Given the description of an element on the screen output the (x, y) to click on. 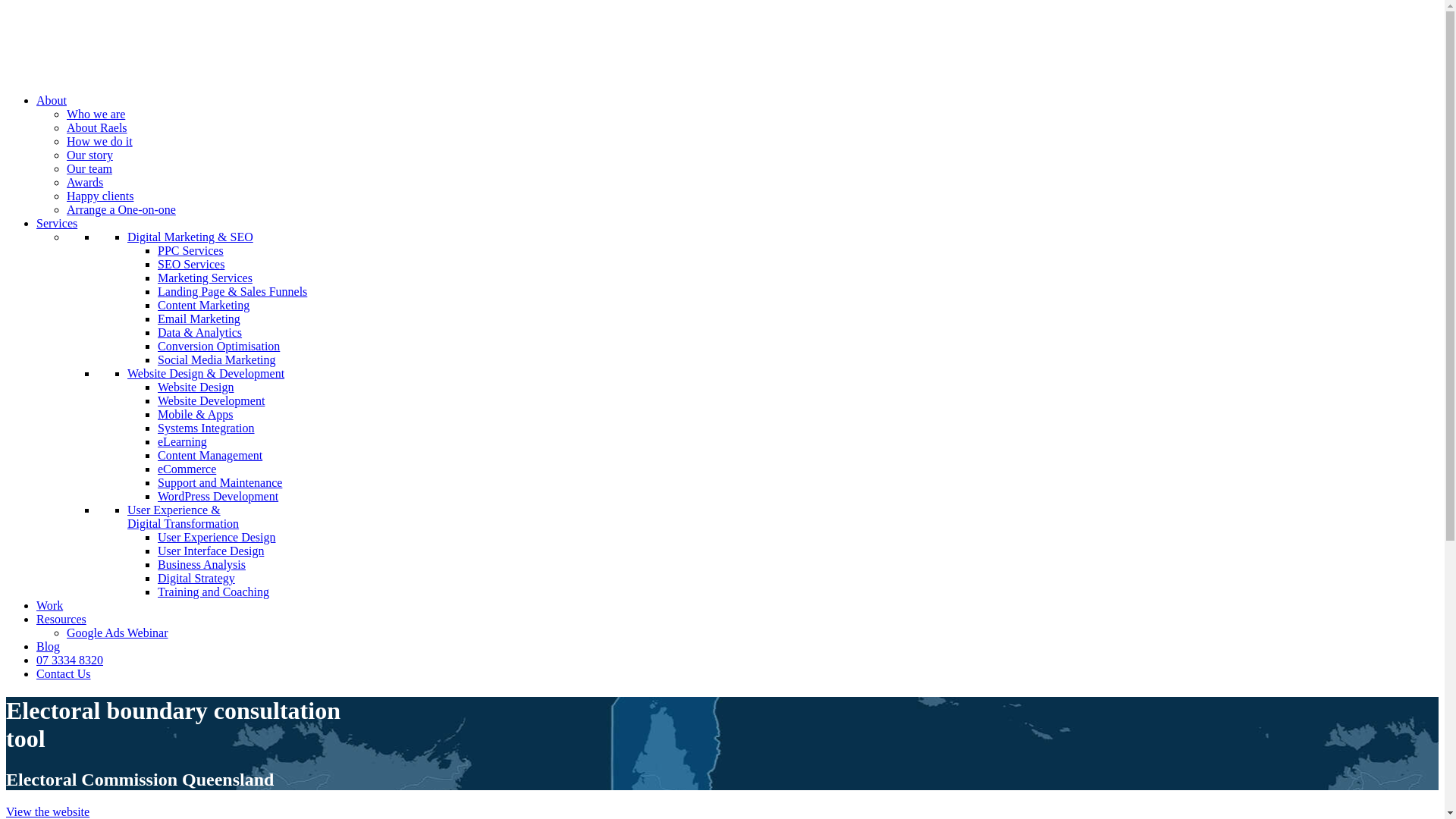
eLearning Element type: text (182, 441)
SEO Services Element type: text (190, 263)
Content Management Element type: text (209, 454)
How we do it Element type: text (99, 140)
Landing Page & Sales Funnels Element type: text (232, 291)
Services Element type: text (56, 222)
Website Design & Development Element type: text (205, 373)
Our team Element type: text (89, 168)
Blog Element type: text (47, 646)
Website Development Element type: text (210, 400)
Awards Element type: text (84, 181)
Business Analysis Element type: text (201, 564)
WordPress Development Element type: text (217, 495)
About Element type: text (51, 100)
Training and Coaching Element type: text (213, 591)
Arrange a One-on-one Element type: text (120, 209)
Mobile & Apps Element type: text (195, 413)
User Interface Design Element type: text (210, 550)
Social Media Marketing Element type: text (216, 359)
Our story Element type: text (89, 154)
Data & Analytics Element type: text (199, 332)
Content Marketing Element type: text (203, 304)
PPC Services Element type: text (190, 250)
Website Design Element type: text (195, 386)
Conversion Optimisation Element type: text (218, 345)
07 3334 8320 Element type: text (69, 659)
Support and Maintenance Element type: text (219, 482)
View the website Element type: text (47, 811)
eCommerce Element type: text (186, 468)
About Raels Element type: text (96, 127)
User Experience &
Digital Transformation Element type: text (182, 516)
Email Marketing Element type: text (198, 318)
Happy clients Element type: text (99, 195)
Digital Strategy Element type: text (196, 577)
Marketing Services Element type: text (204, 277)
Google Ads Webinar Element type: text (117, 632)
Resources Element type: text (61, 618)
User Experience Design Element type: text (216, 536)
Systems Integration Element type: text (205, 427)
Contact Us Element type: text (63, 673)
Work Element type: text (49, 605)
Who we are Element type: text (95, 113)
Digital Marketing & SEO Element type: text (190, 236)
